Given the description of an element on the screen output the (x, y) to click on. 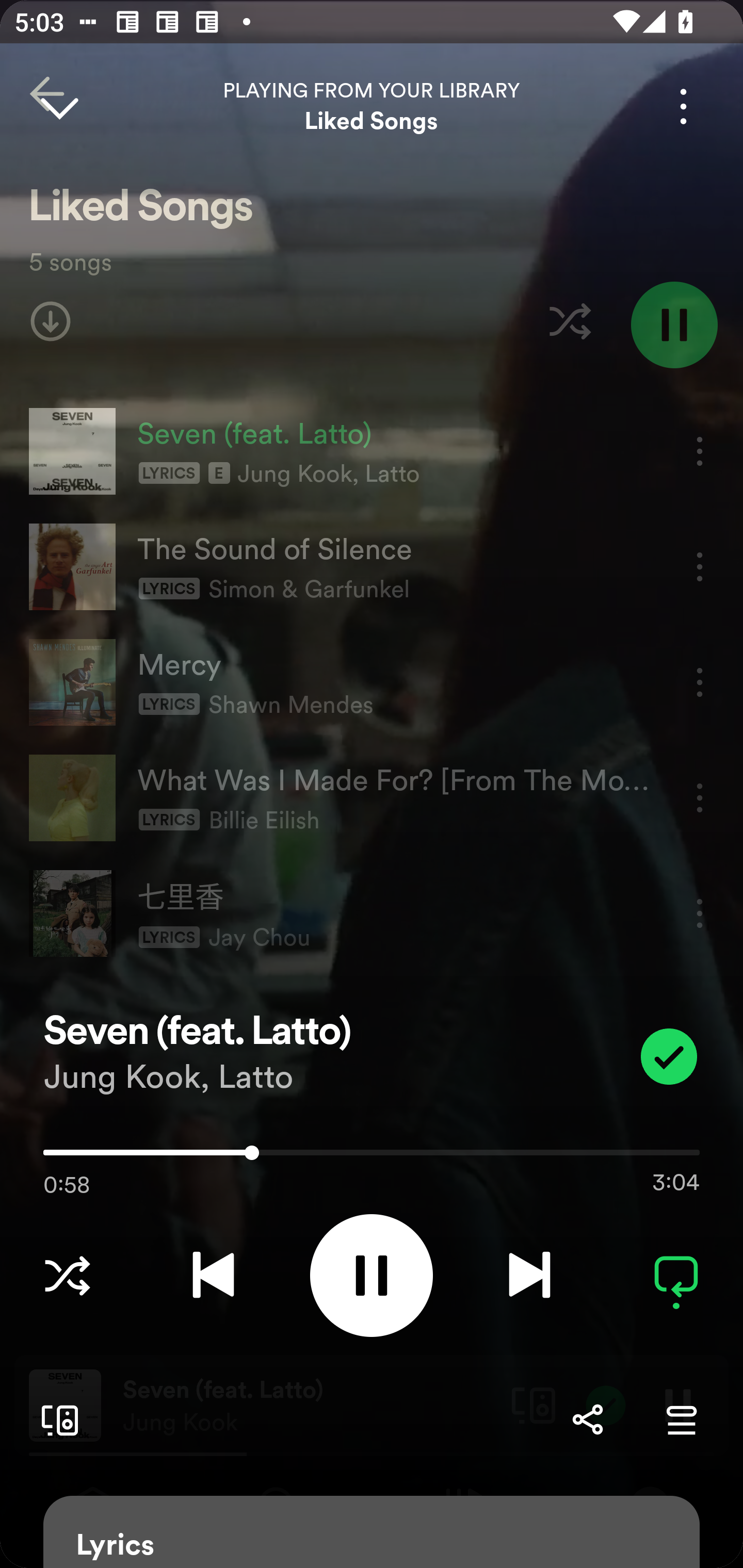
Close (59, 106)
More options for song Seven (feat. Latto) (683, 106)
PLAYING FROM YOUR LIBRARY Liked Songs (371, 106)
Item added (669, 1056)
0:57 3:04 57962.0 Use volume keys to adjust (371, 1157)
Pause (371, 1275)
Previous (212, 1275)
Next (529, 1275)
Choose a Listening Mode (66, 1275)
Repeat (676, 1275)
Share (587, 1419)
Go to Queue (681, 1419)
Connect to a device. Opens the devices menu (55, 1419)
Lyrics (371, 1531)
